Given the description of an element on the screen output the (x, y) to click on. 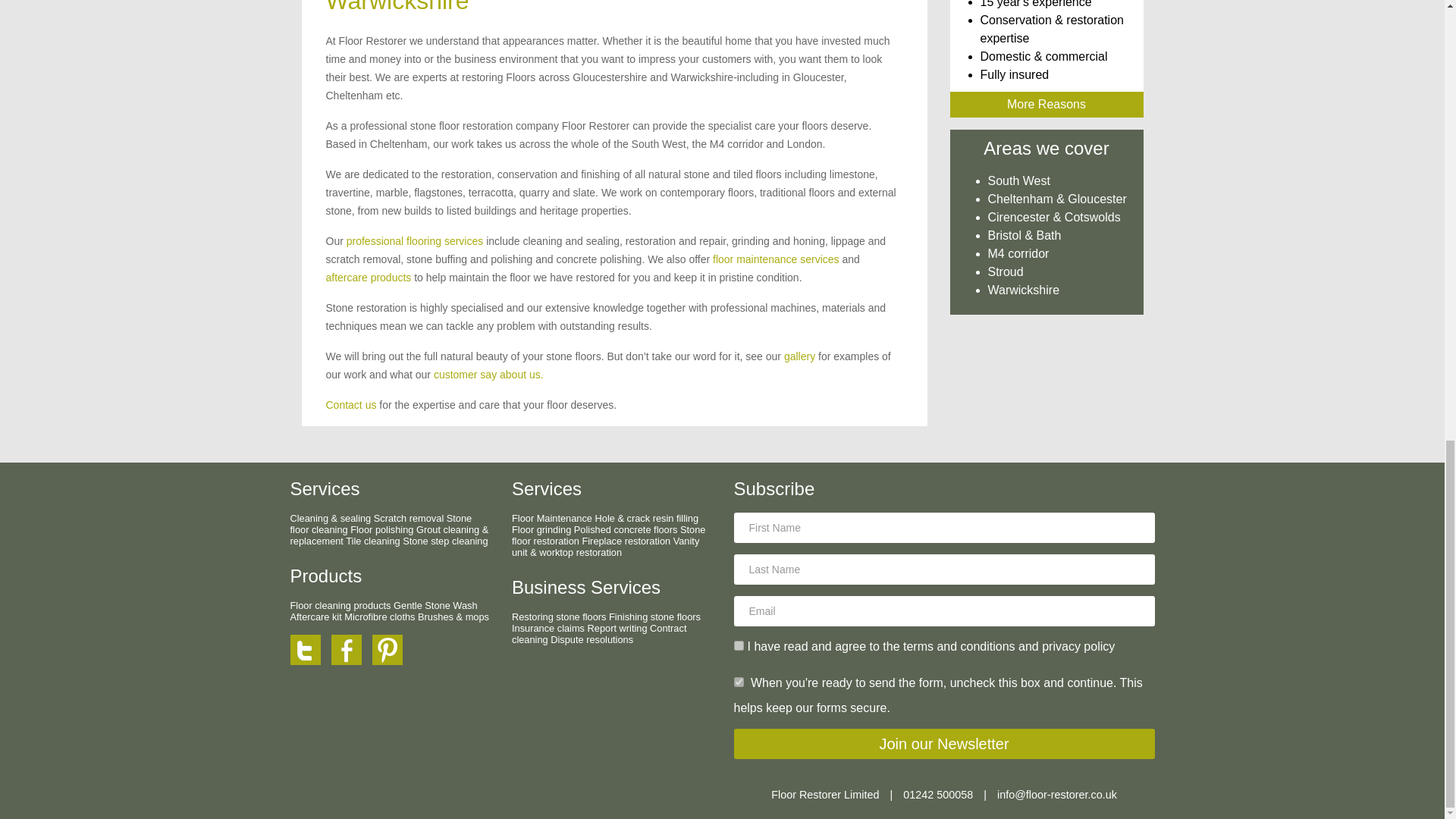
Pinterest (391, 648)
gallery (799, 356)
professional flooring services (414, 241)
Facebook (350, 648)
Contact us (351, 404)
on (738, 645)
More Reasons (1045, 104)
Join our Newsletter (943, 743)
on (738, 682)
aftercare products (369, 277)
floor maintenance services (776, 259)
customer say about us. (488, 374)
Twitter (308, 648)
